Given the description of an element on the screen output the (x, y) to click on. 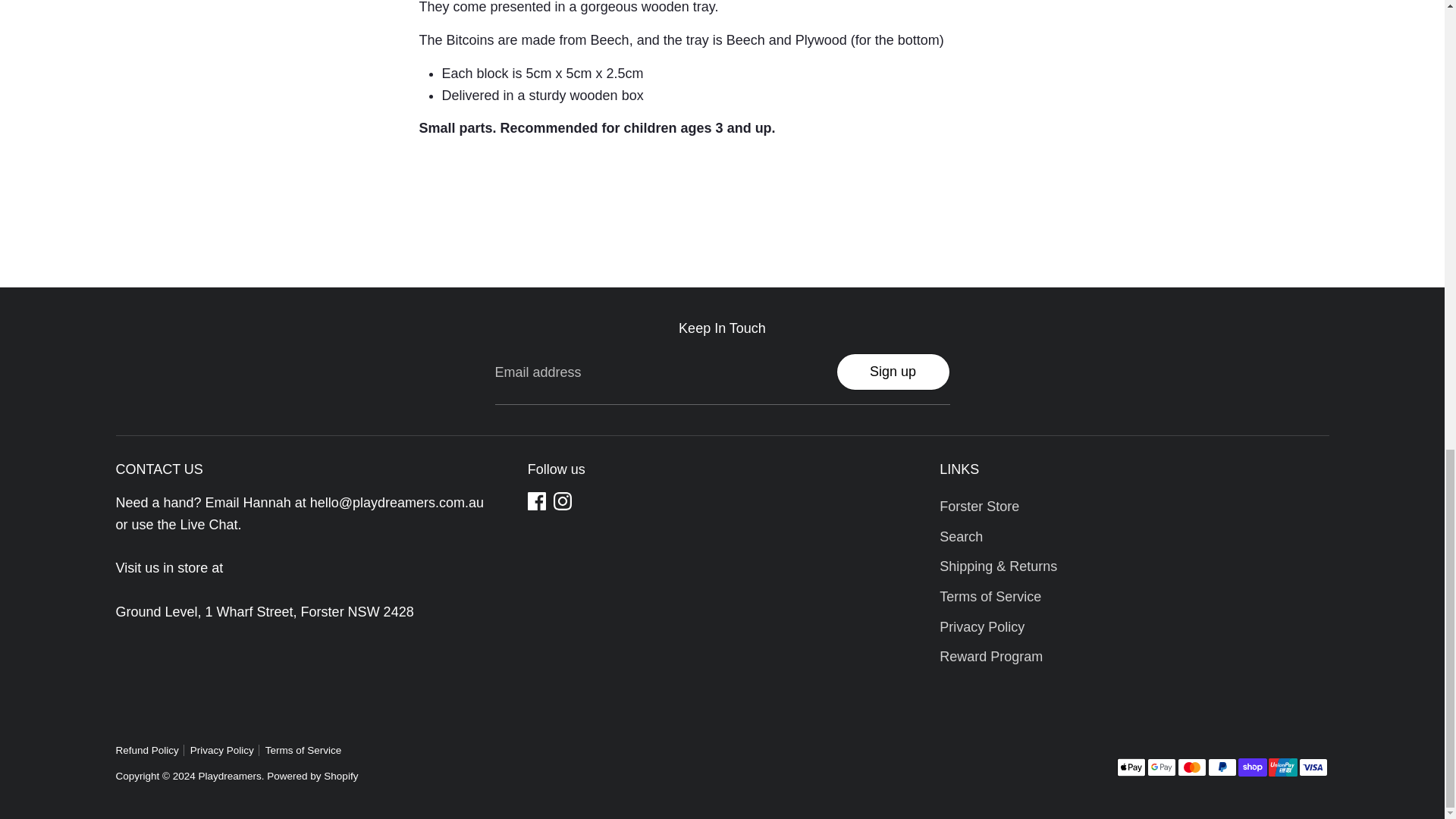
Apple Pay (1130, 767)
Google Pay (1160, 767)
PayPal (1221, 767)
Shop Pay (1251, 767)
Mastercard (1190, 767)
